Given the description of an element on the screen output the (x, y) to click on. 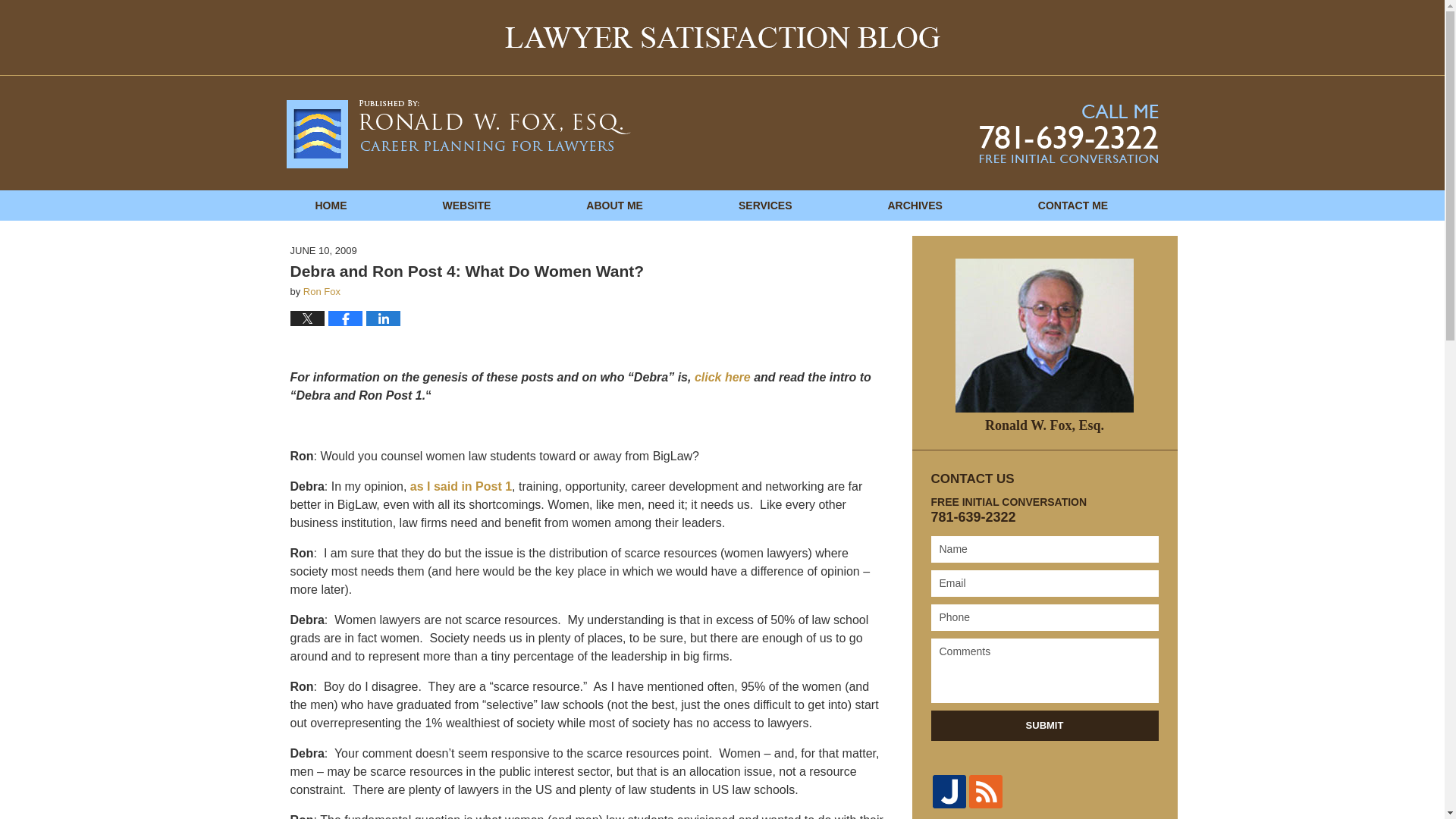
Justia (949, 791)
HOME (330, 205)
SUBMIT (1044, 725)
Please enter a valid phone number. (1044, 617)
WEBSITE (466, 205)
Ron Fox (321, 291)
Lawyer Satisfaction Blog (458, 133)
ABOUT ME (614, 205)
Published By Center for Professional Development in the Law (1067, 133)
CONTACT ME (1073, 205)
SERVICES (765, 205)
as I said in Post 1 (461, 486)
click here (722, 377)
ARCHIVES (915, 205)
Feed (986, 791)
